Given the description of an element on the screen output the (x, y) to click on. 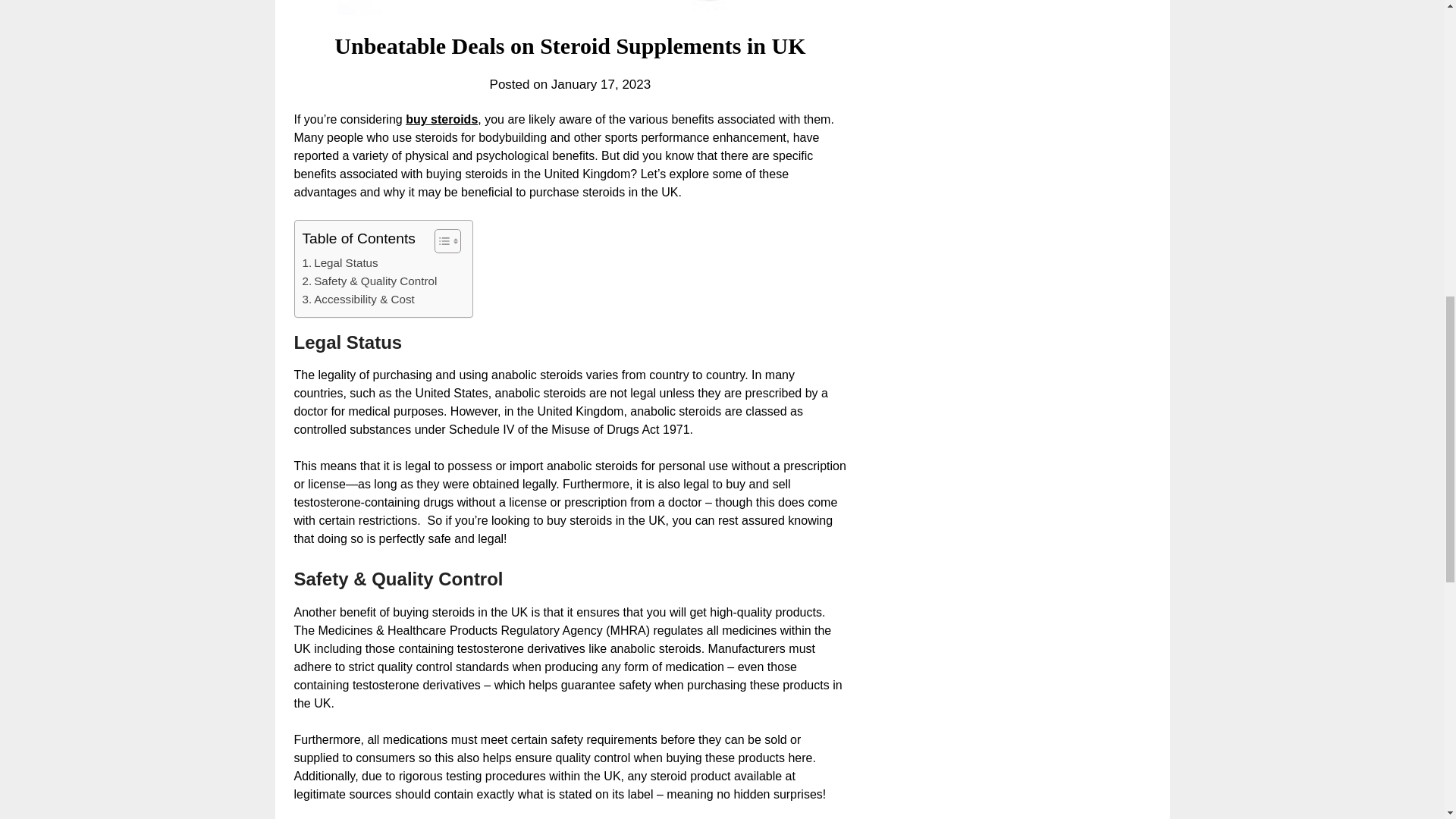
Legal Status (339, 262)
buy steroids (441, 119)
Legal Status (339, 262)
